Given the description of an element on the screen output the (x, y) to click on. 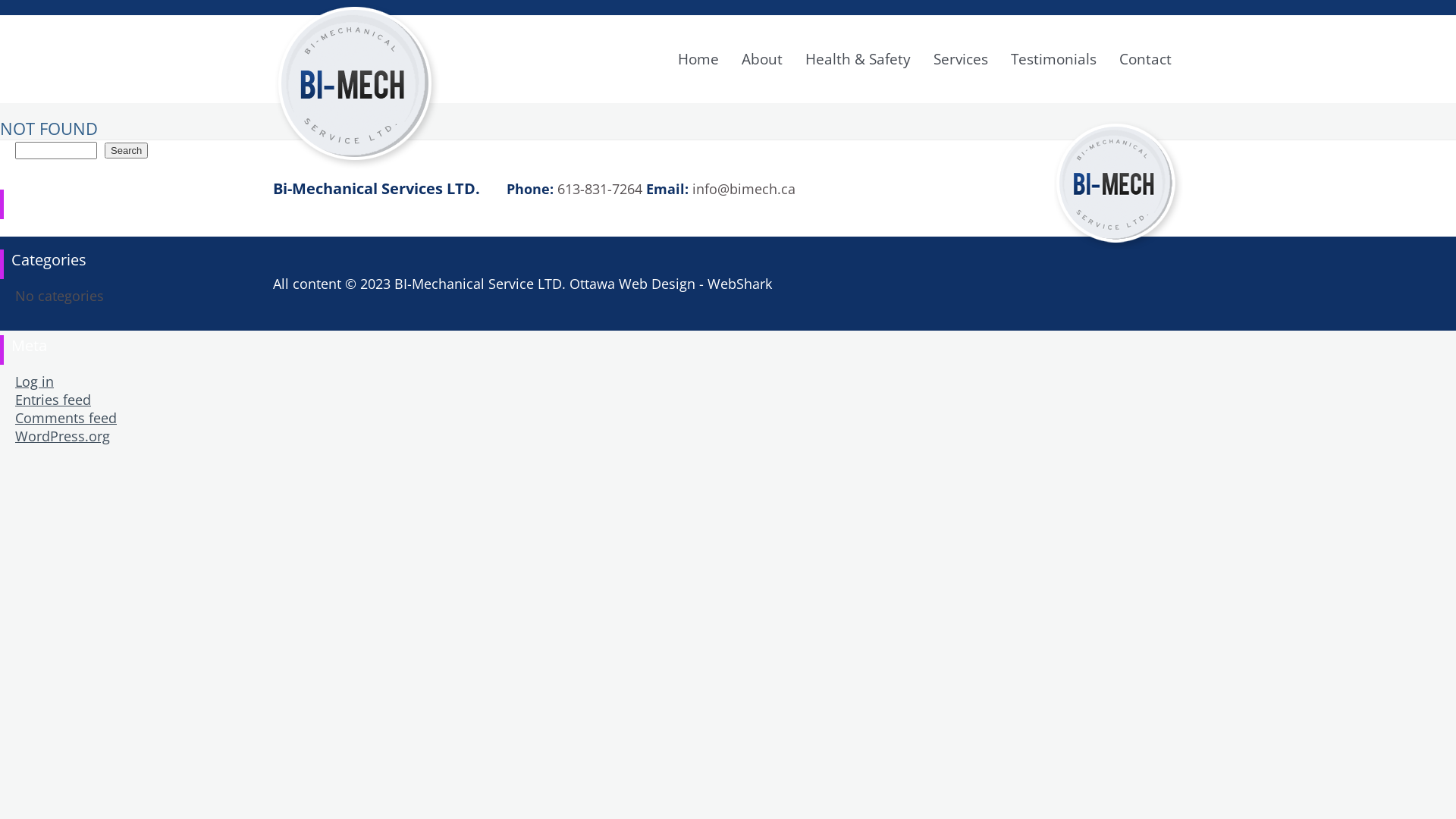
Entries feed Element type: text (53, 399)
Contact Element type: text (1145, 58)
WordPress.org Element type: text (62, 435)
About Element type: text (761, 58)
Services Element type: text (960, 58)
Health & Safety Element type: text (857, 58)
Search Element type: text (125, 150)
Home Element type: text (698, 58)
Comments feed Element type: text (65, 417)
Testimonials Element type: text (1053, 58)
Log in Element type: text (34, 381)
